Given the description of an element on the screen output the (x, y) to click on. 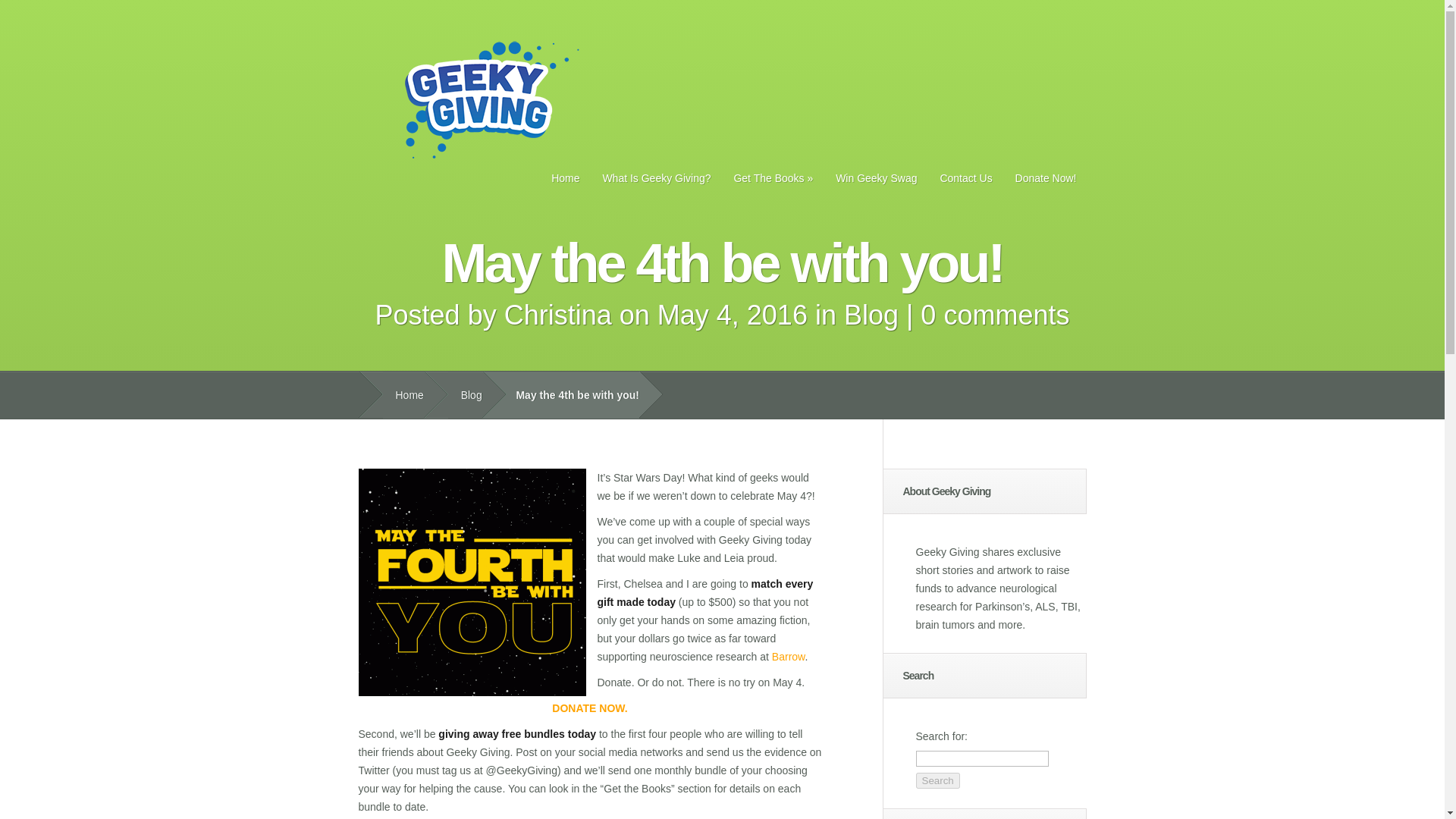
Win Geeky Swag (875, 178)
Home (565, 178)
Donate Now! (1046, 178)
Search (937, 780)
Search (937, 780)
Christina (557, 314)
Contact Us (965, 178)
Blog (871, 314)
Barrow (788, 656)
0 comments (994, 314)
